Given the description of an element on the screen output the (x, y) to click on. 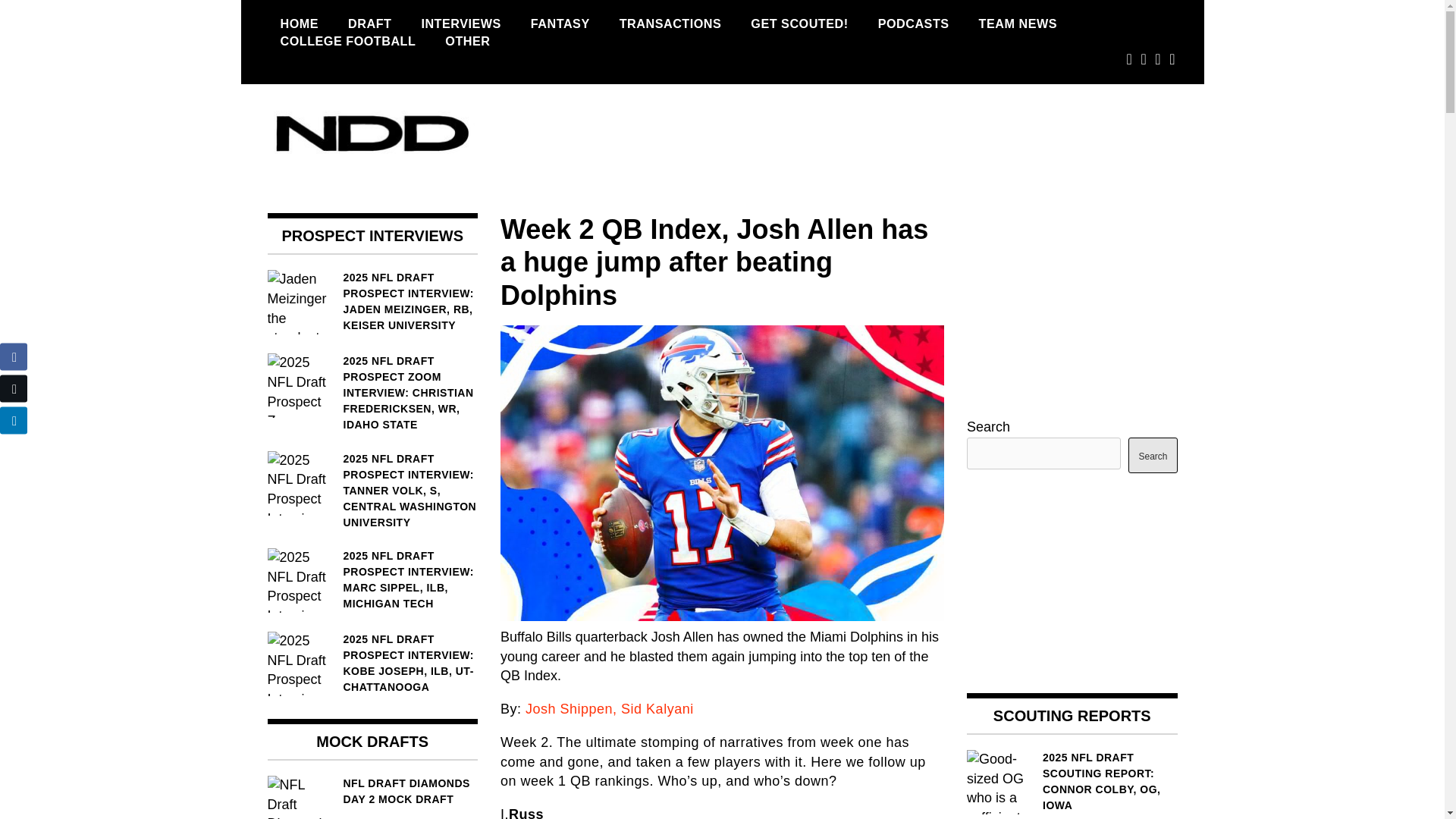
GET SCOUTED! (799, 23)
TEAM NEWS (1018, 23)
PODCASTS (913, 23)
DRAFT (369, 23)
HOME (298, 23)
FANTASY (560, 23)
TRANSACTIONS (670, 23)
INTERVIEWS (460, 23)
